Given the description of an element on the screen output the (x, y) to click on. 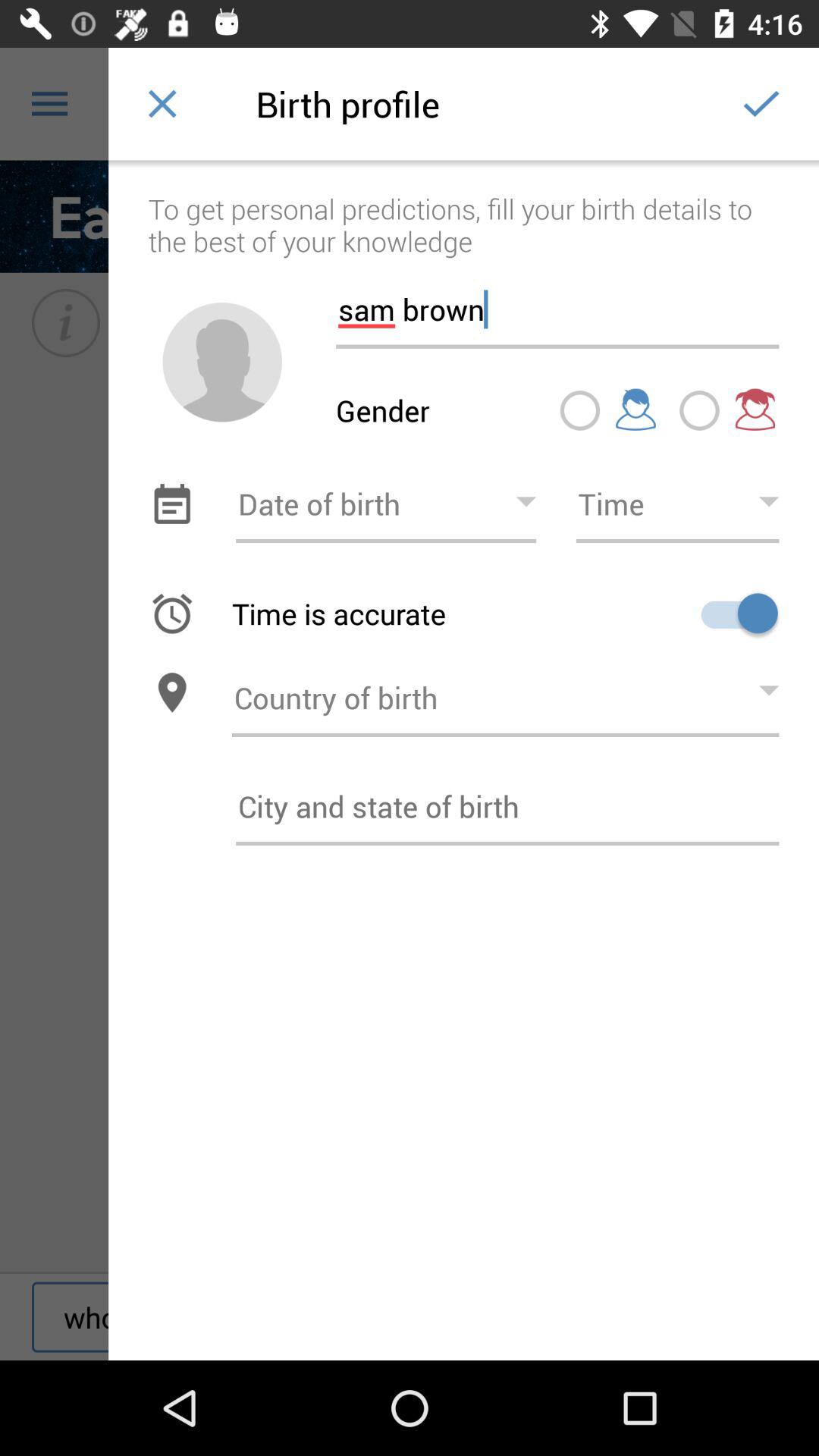
enter information on place of birth (507, 806)
